Given the description of an element on the screen output the (x, y) to click on. 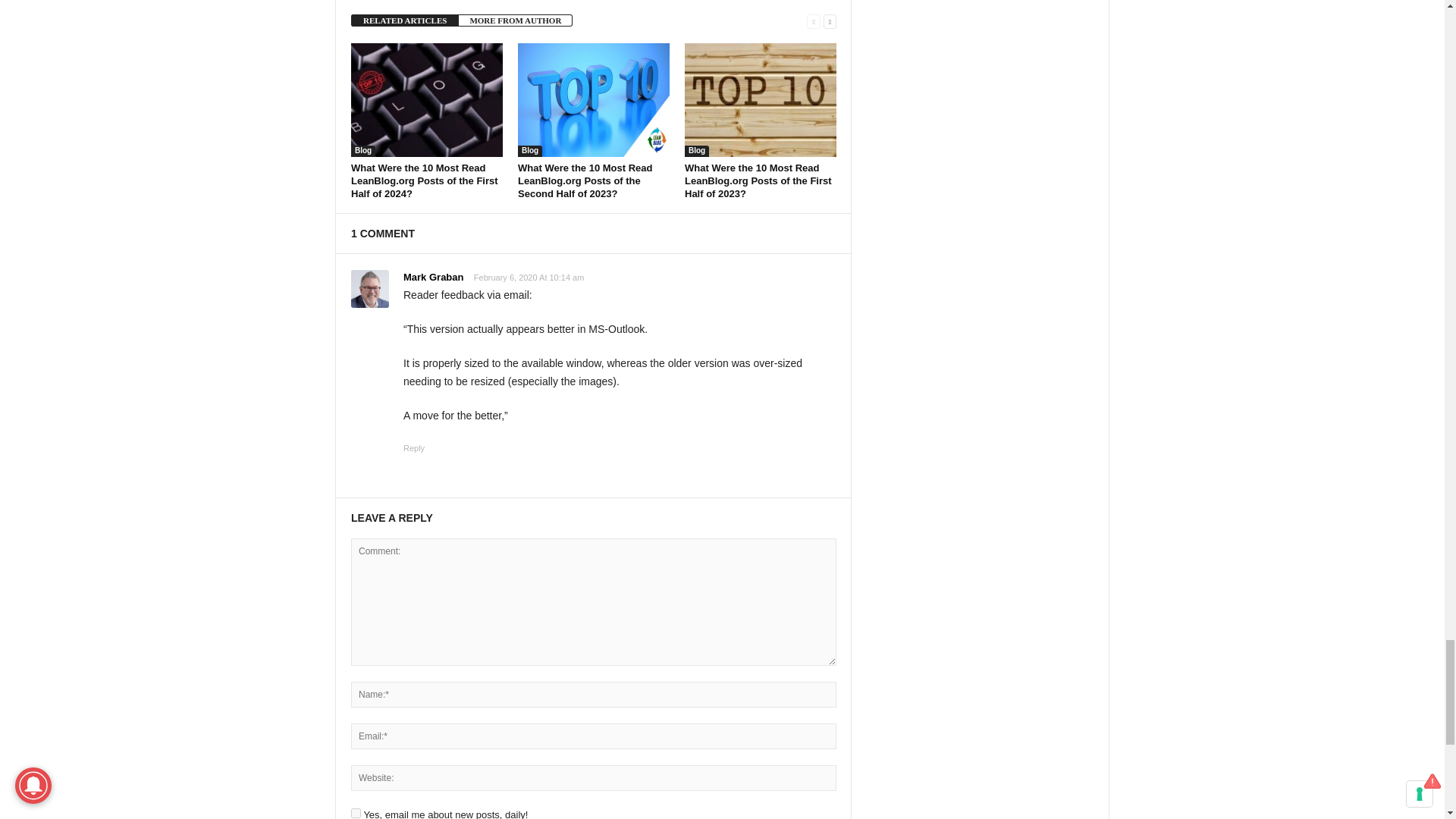
1 (355, 813)
